Given the description of an element on the screen output the (x, y) to click on. 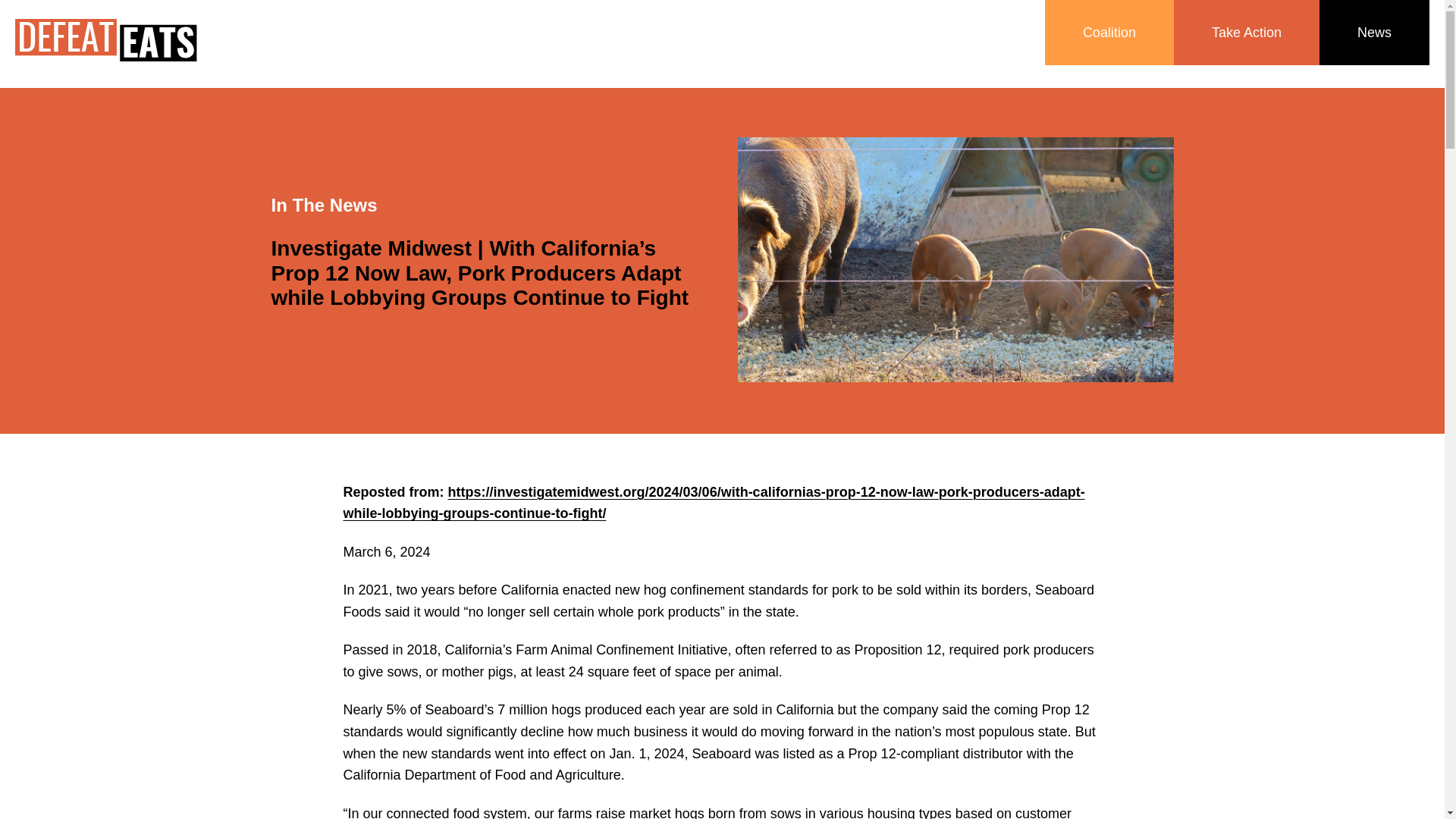
In The News (323, 205)
Take Action (1246, 32)
Coalition (1109, 32)
News (1374, 32)
